Given the description of an element on the screen output the (x, y) to click on. 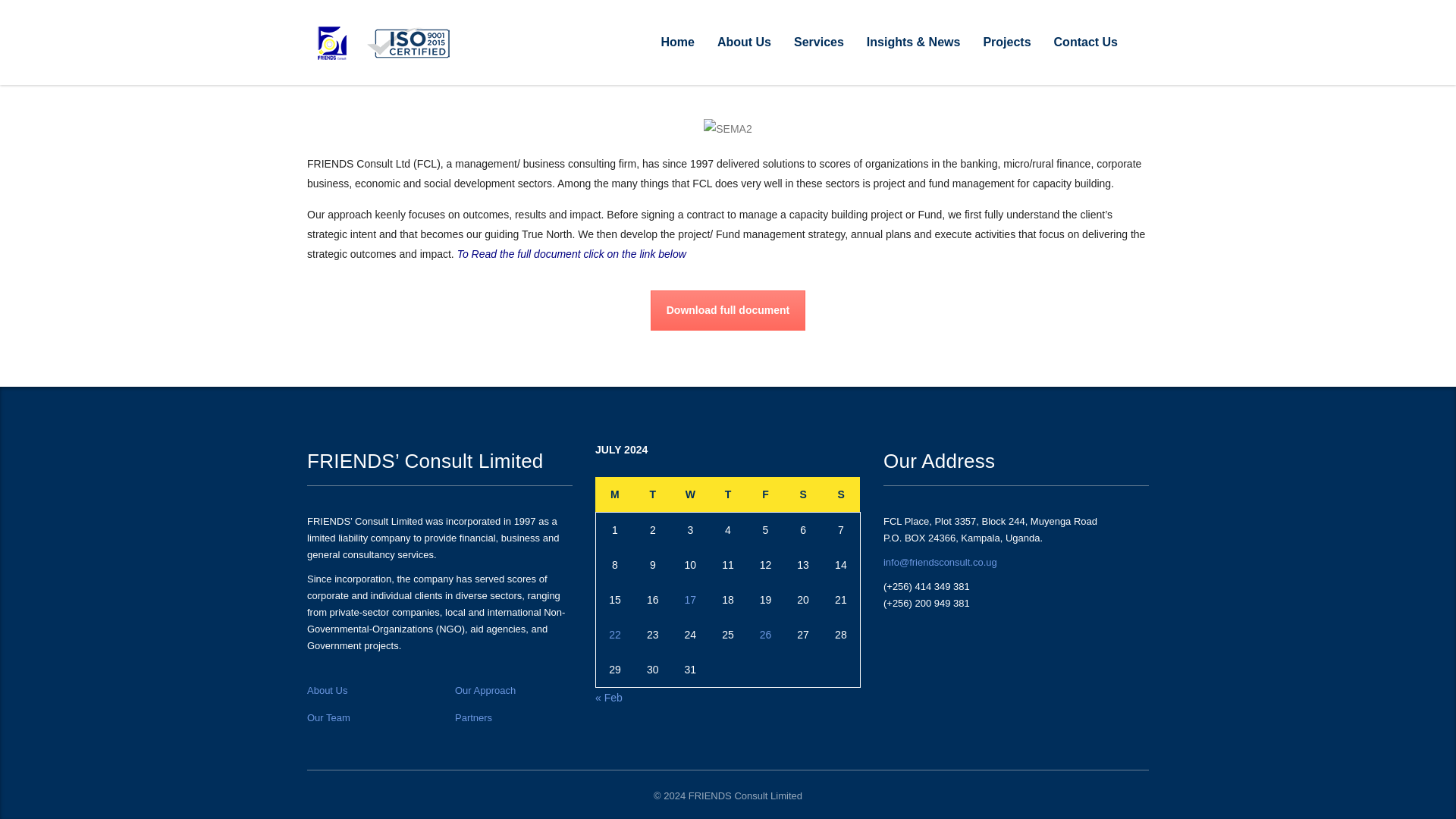
Home (676, 42)
Tuesday (652, 494)
About Us (744, 42)
Wednesday (690, 494)
Download full document (728, 310)
Partners (473, 717)
Monday (614, 494)
Saturday (803, 494)
Thursday (727, 494)
Contact Us (1085, 42)
Friday (765, 494)
Services (819, 42)
Sunday (841, 494)
26 (765, 634)
17 (690, 599)
